Given the description of an element on the screen output the (x, y) to click on. 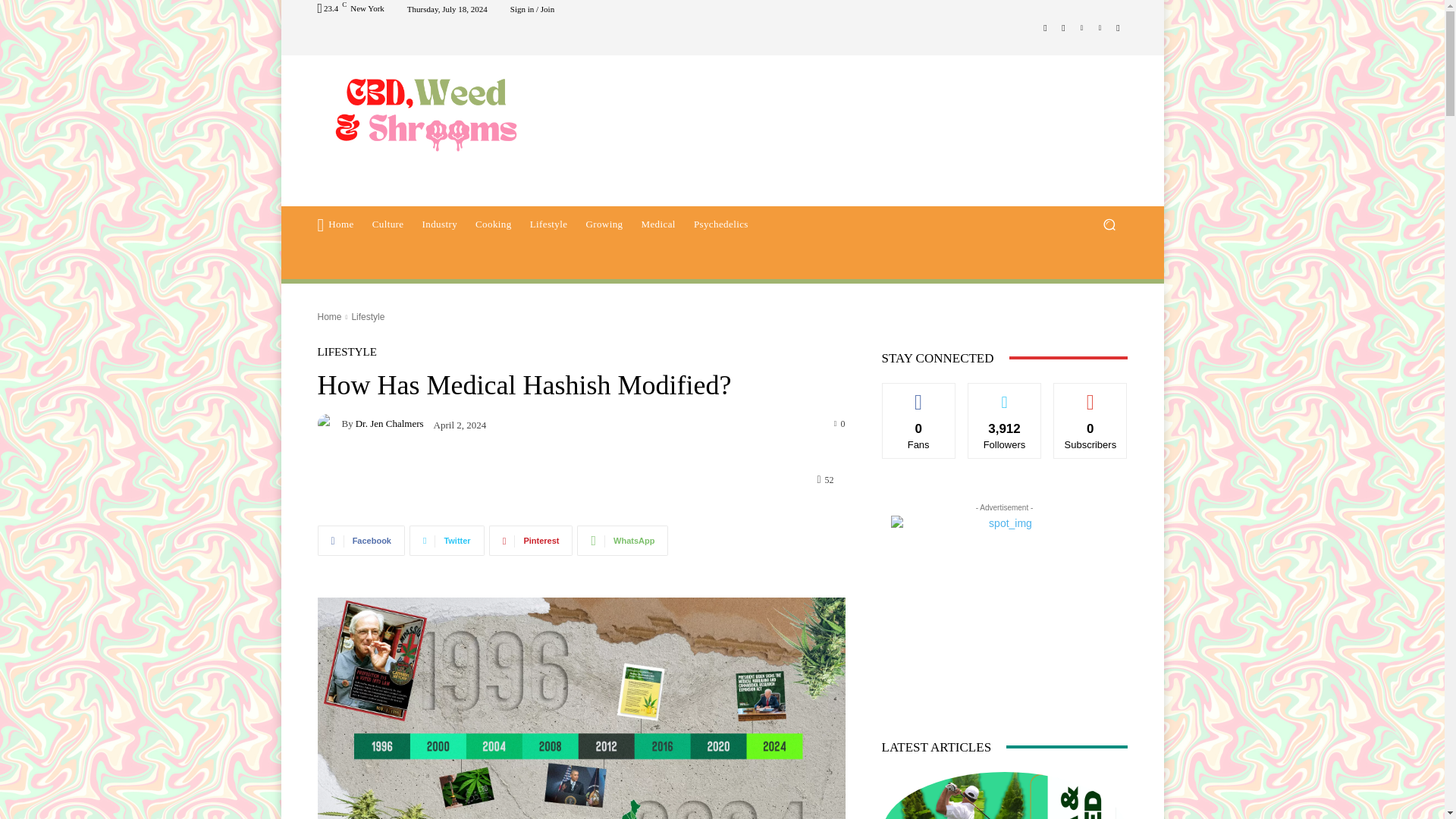
Twitter (446, 540)
Growing (603, 224)
Facebook (360, 540)
Facebook (1044, 27)
CBD, Weed, and Shrooms logo (425, 112)
Lifestyle (548, 224)
Home (328, 317)
Dr. Jen Chalmers (328, 424)
Home (335, 224)
Psychedelics (720, 224)
Cooking (493, 224)
Culture (387, 224)
Vimeo (1099, 27)
View all posts in Lifestyle (367, 317)
Industry (438, 224)
